Given the description of an element on the screen output the (x, y) to click on. 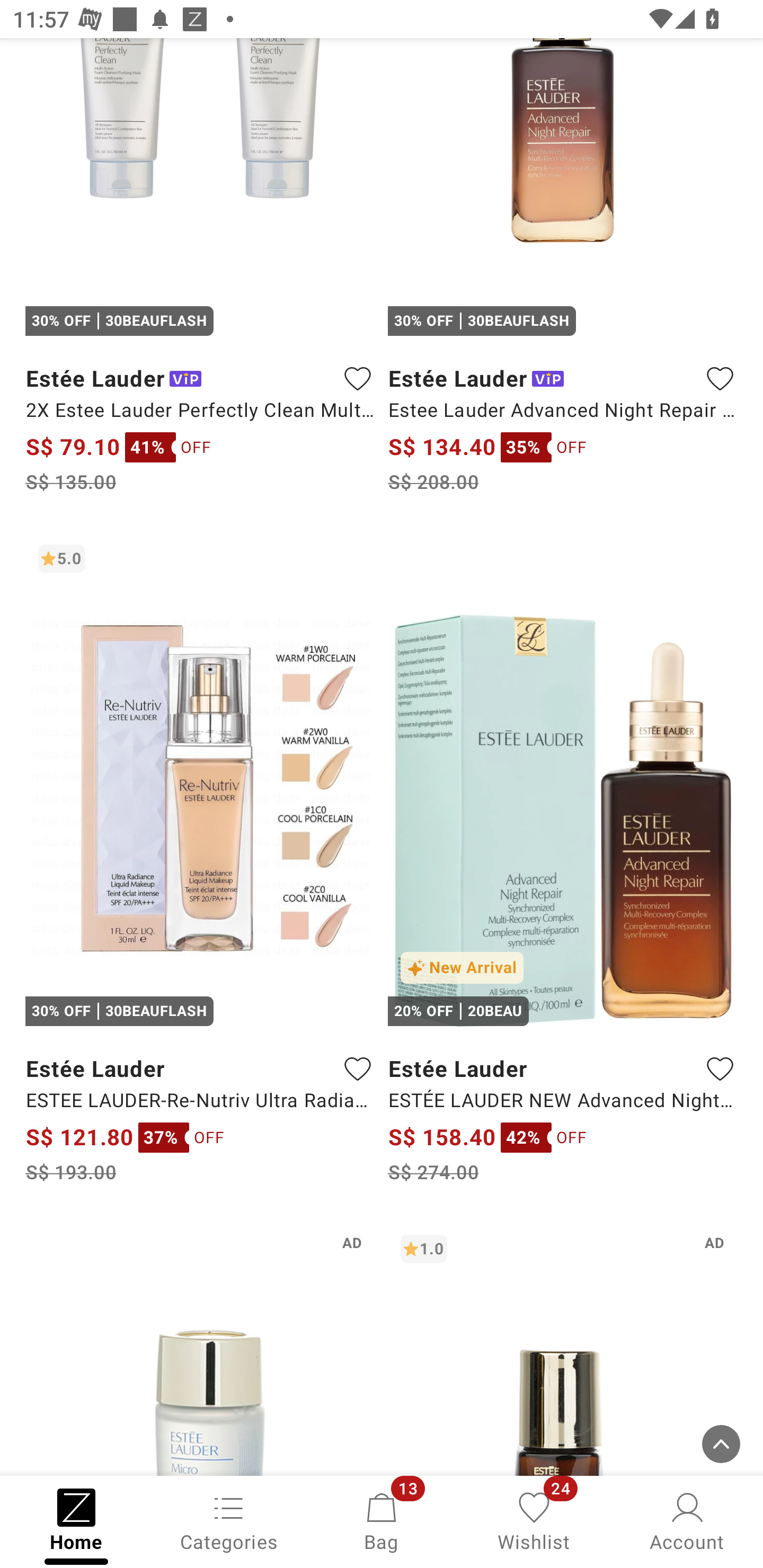
Categories (228, 1519)
Bag, 13 new notifications Bag (381, 1519)
Wishlist, 24 new notifications Wishlist (533, 1519)
Account (686, 1519)
